Given the description of an element on the screen output the (x, y) to click on. 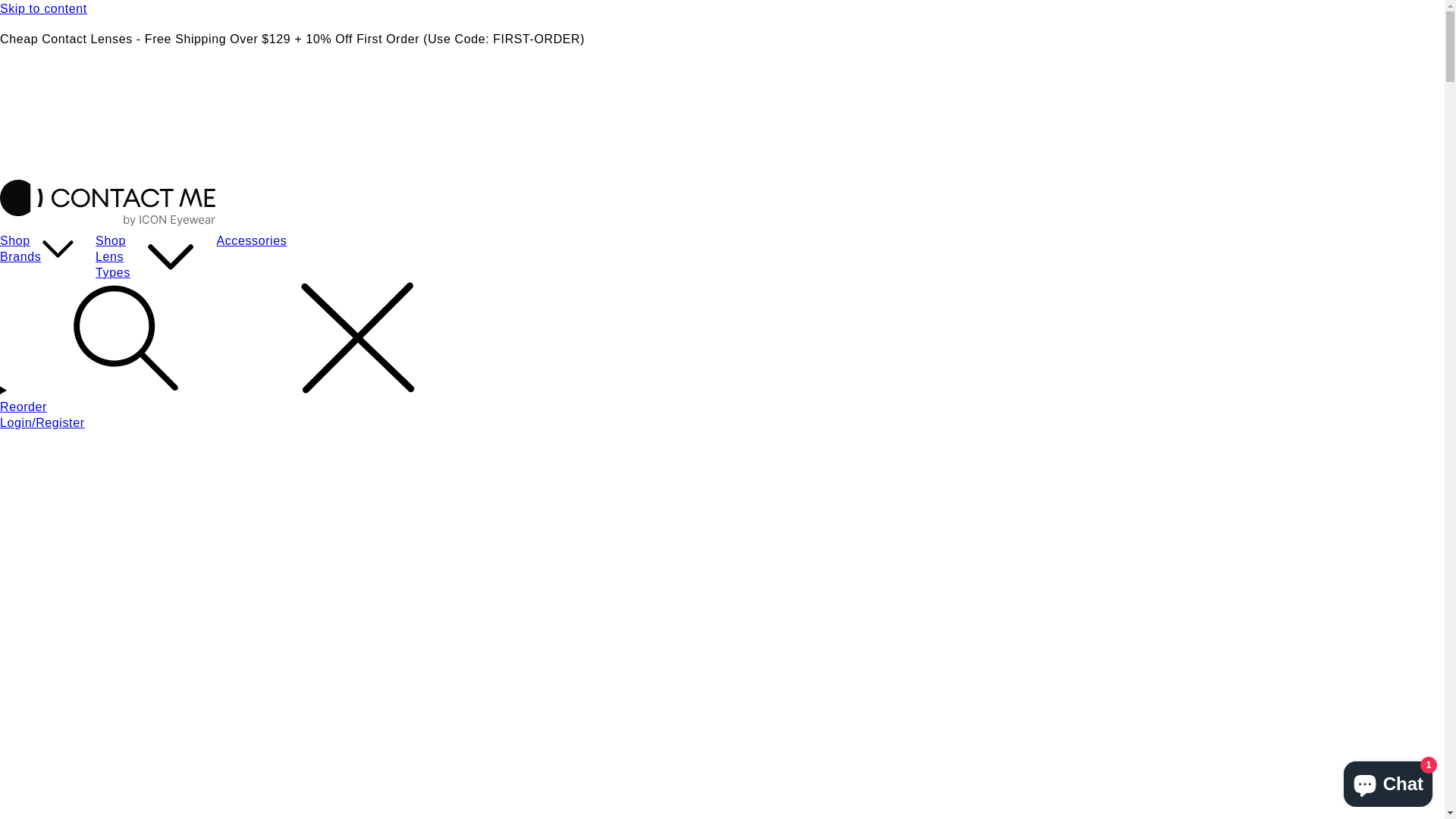
Shop Brands Element type: text (20, 248)
Shop Lens Types Element type: text (112, 256)
Login/Register Element type: text (722, 423)
Shopify online store chat Element type: hover (1388, 780)
Accessories Element type: text (251, 240)
Skip to content Element type: text (722, 9)
Reorder Element type: text (722, 407)
